Given the description of an element on the screen output the (x, y) to click on. 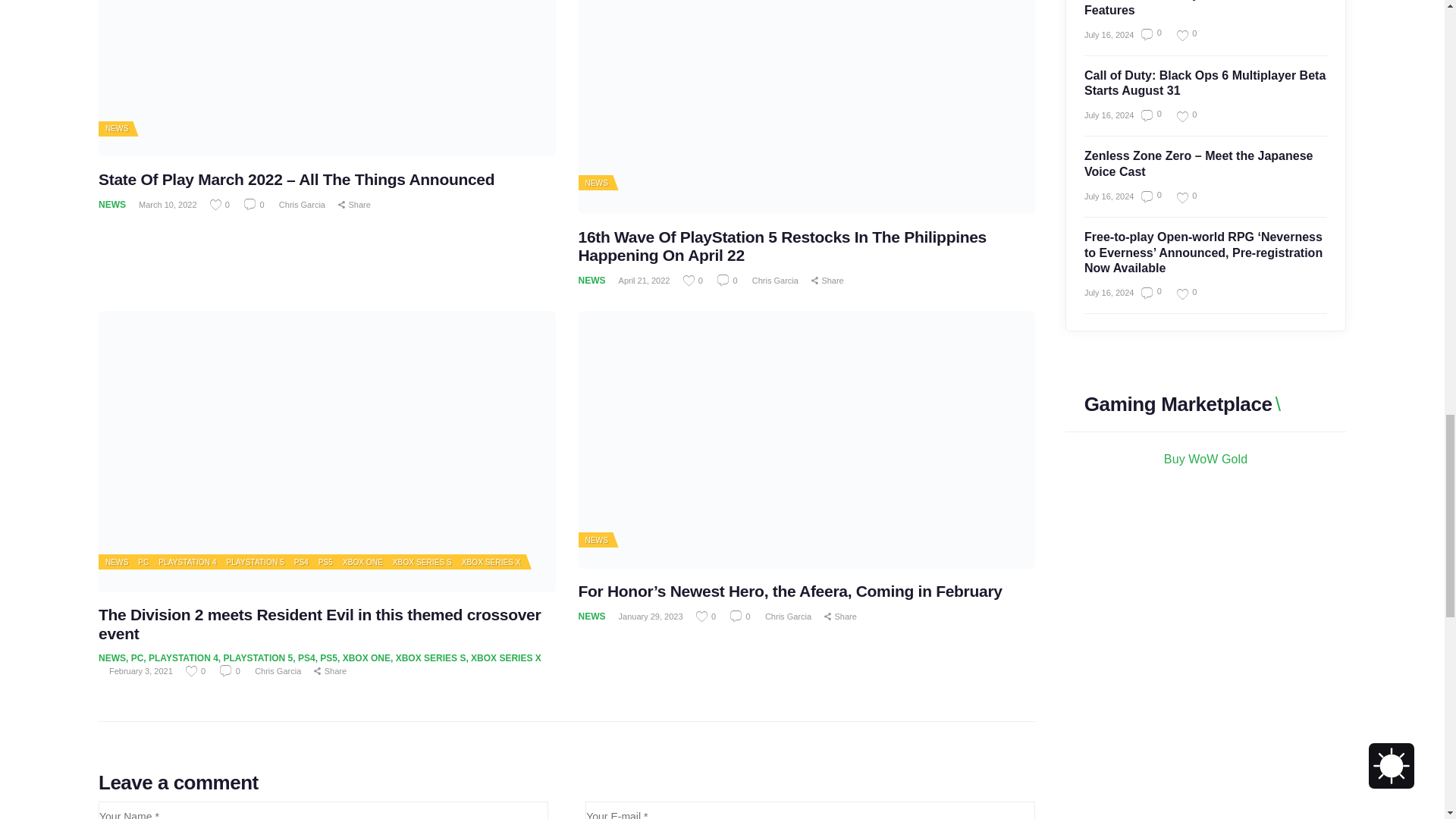
View all posts in PC (143, 562)
View all posts in News (116, 128)
View all posts in News (596, 183)
View all posts in Xbox Series X (491, 562)
View all posts in News (596, 540)
Like (197, 670)
View all posts in News (116, 562)
View all posts in Xbox One (362, 562)
View all posts in PS4 (301, 562)
View all posts in PS5 (325, 562)
Like (220, 204)
Like (693, 280)
View all posts in Xbox Series S (422, 562)
View all posts in Playstation 4 (186, 562)
View all posts in PlayStation 5 (254, 562)
